Given the description of an element on the screen output the (x, y) to click on. 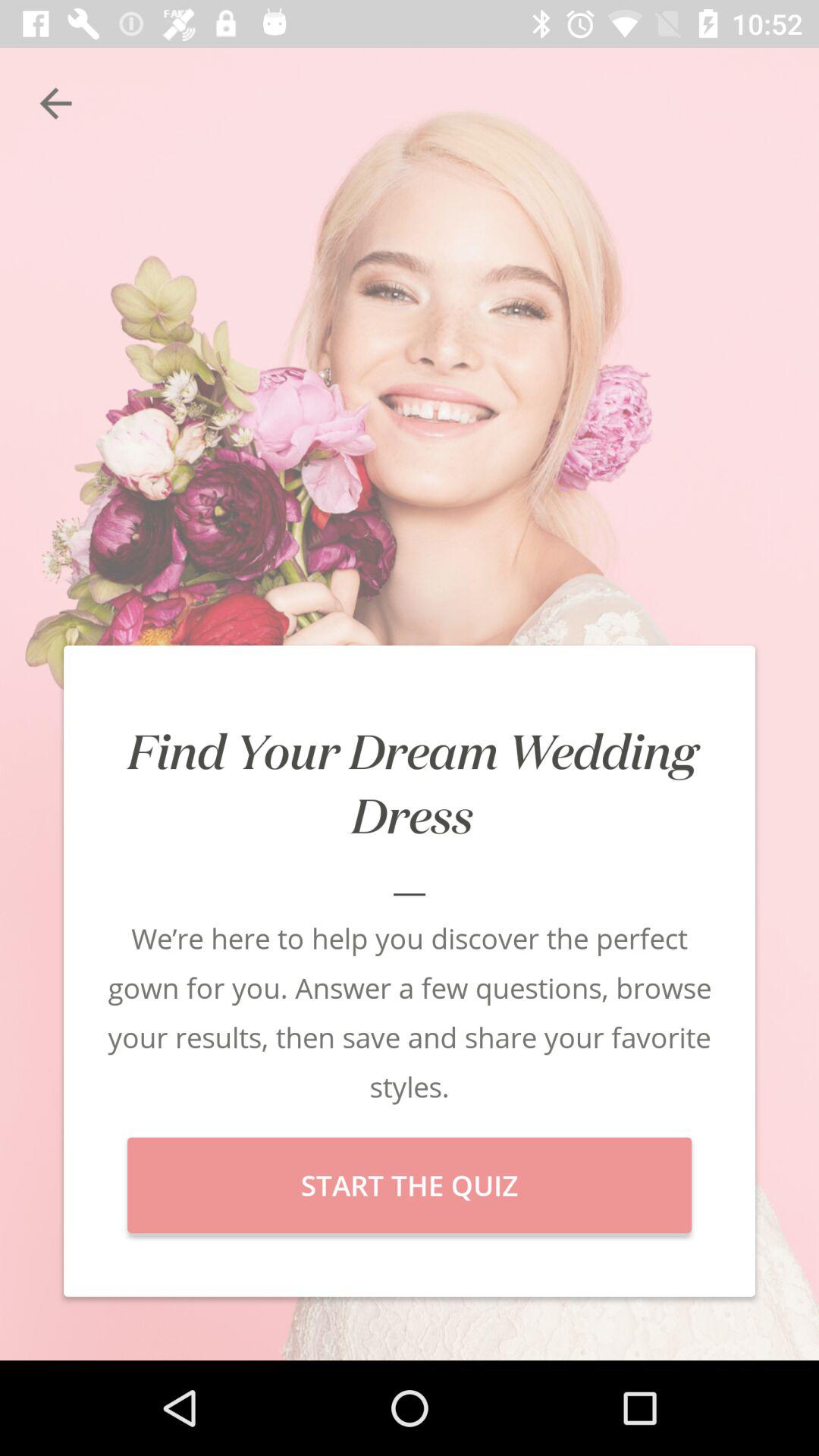
turn off the item at the top left corner (55, 103)
